Given the description of an element on the screen output the (x, y) to click on. 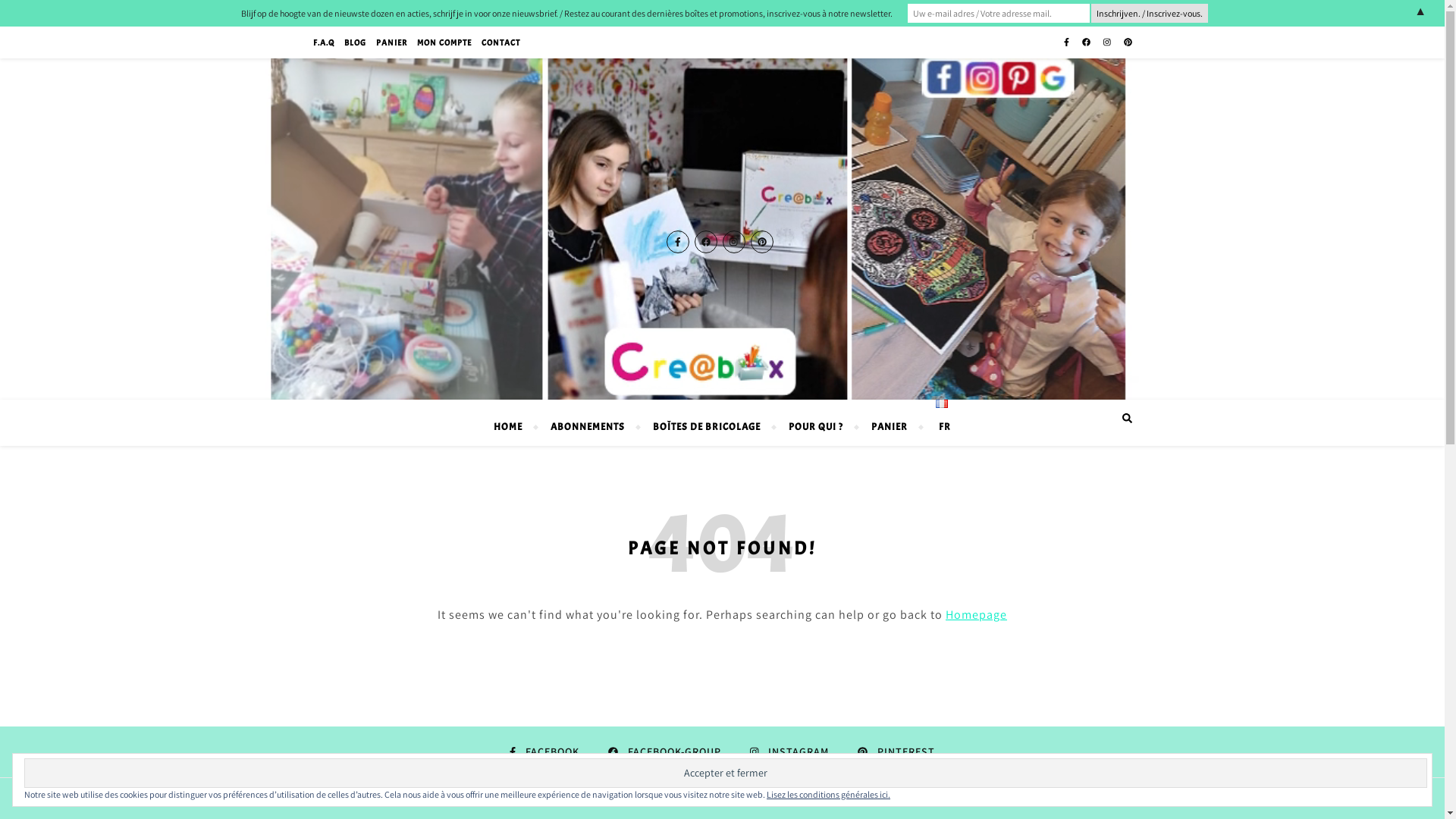
BLOG Element type: text (354, 42)
PANIER Element type: text (390, 42)
Inschrijven. / Inscrivez-vous. Element type: text (1149, 12)
FR Element type: text (936, 422)
HOME Element type: text (514, 426)
MON COMPTE Element type: text (443, 42)
F.A.Q Element type: text (324, 42)
FACEBOOK Element type: text (544, 751)
INSTAGRAM Element type: text (788, 751)
Homepage Element type: text (976, 614)
CONTACT Element type: text (498, 42)
ABONNEMENTS Element type: text (587, 426)
PINTEREST Element type: text (896, 751)
PANIER Element type: text (889, 426)
POUR QUI ? Element type: text (815, 426)
Accepter et fermer Element type: text (725, 772)
FACEBOOK-GROUP Element type: text (664, 751)
